Given the description of an element on the screen output the (x, y) to click on. 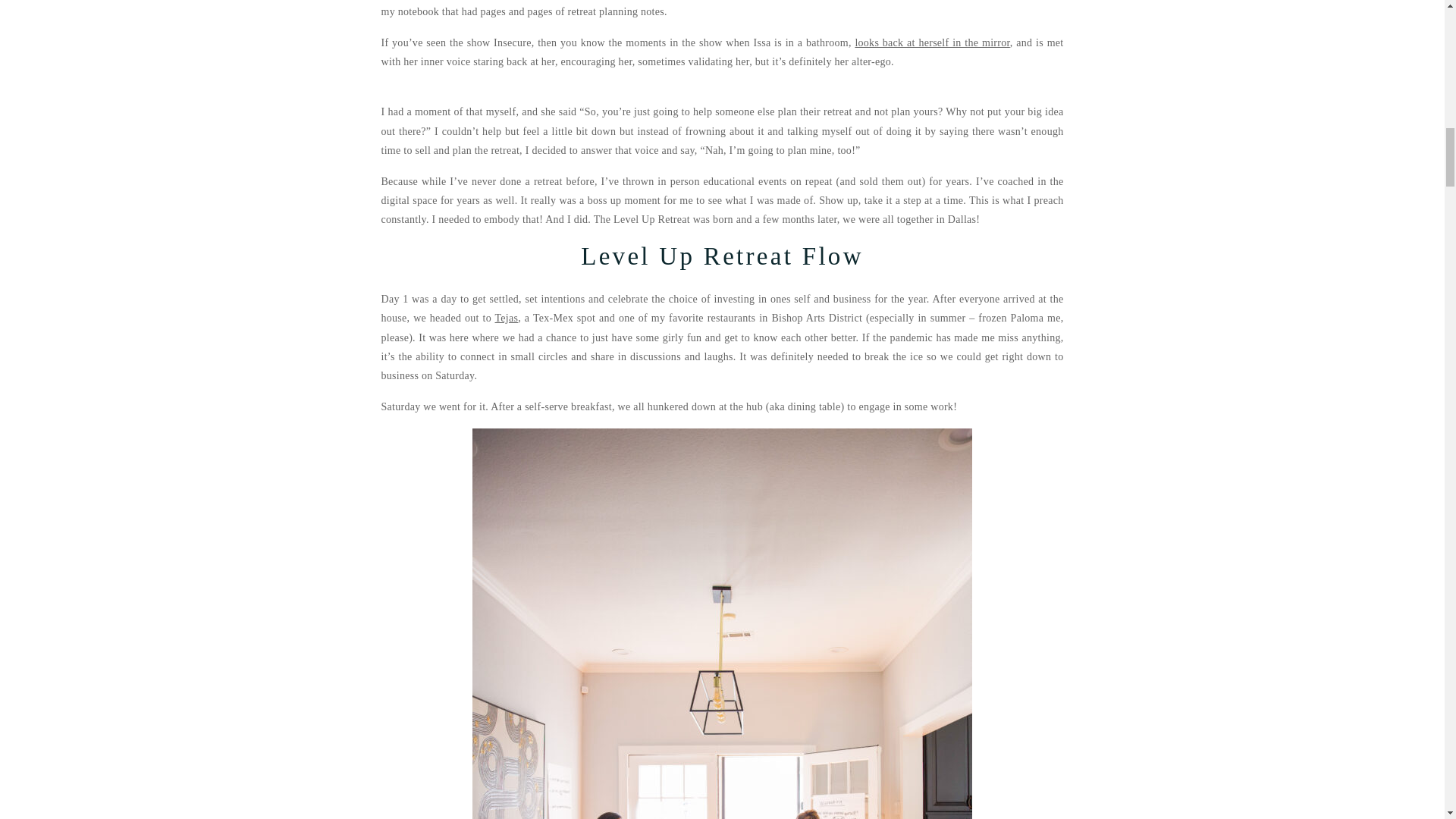
Tejas (506, 317)
looks back at herself in the mirror (931, 42)
